Given the description of an element on the screen output the (x, y) to click on. 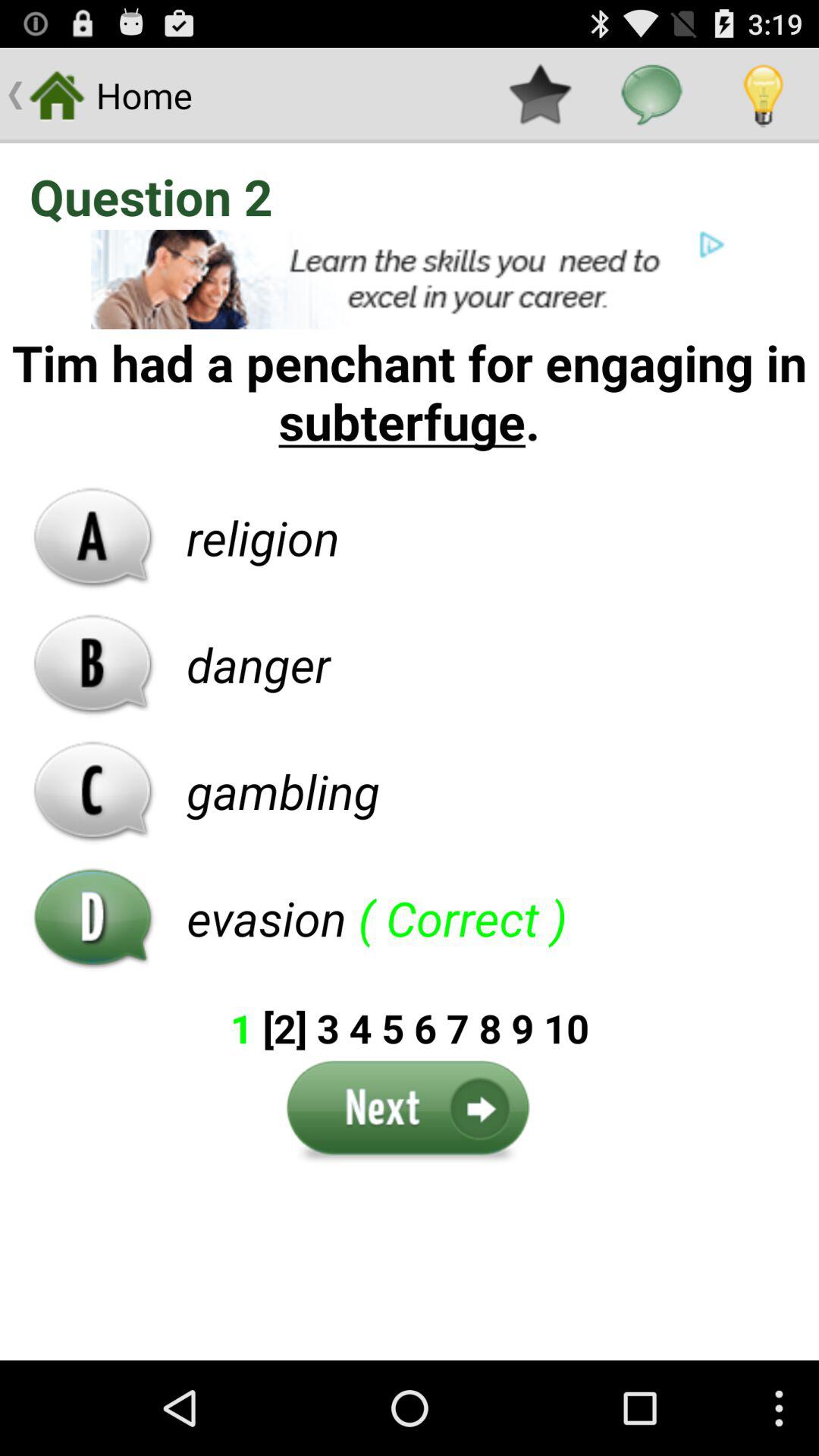
turn on the icon below question 2 item (409, 279)
